Given the description of an element on the screen output the (x, y) to click on. 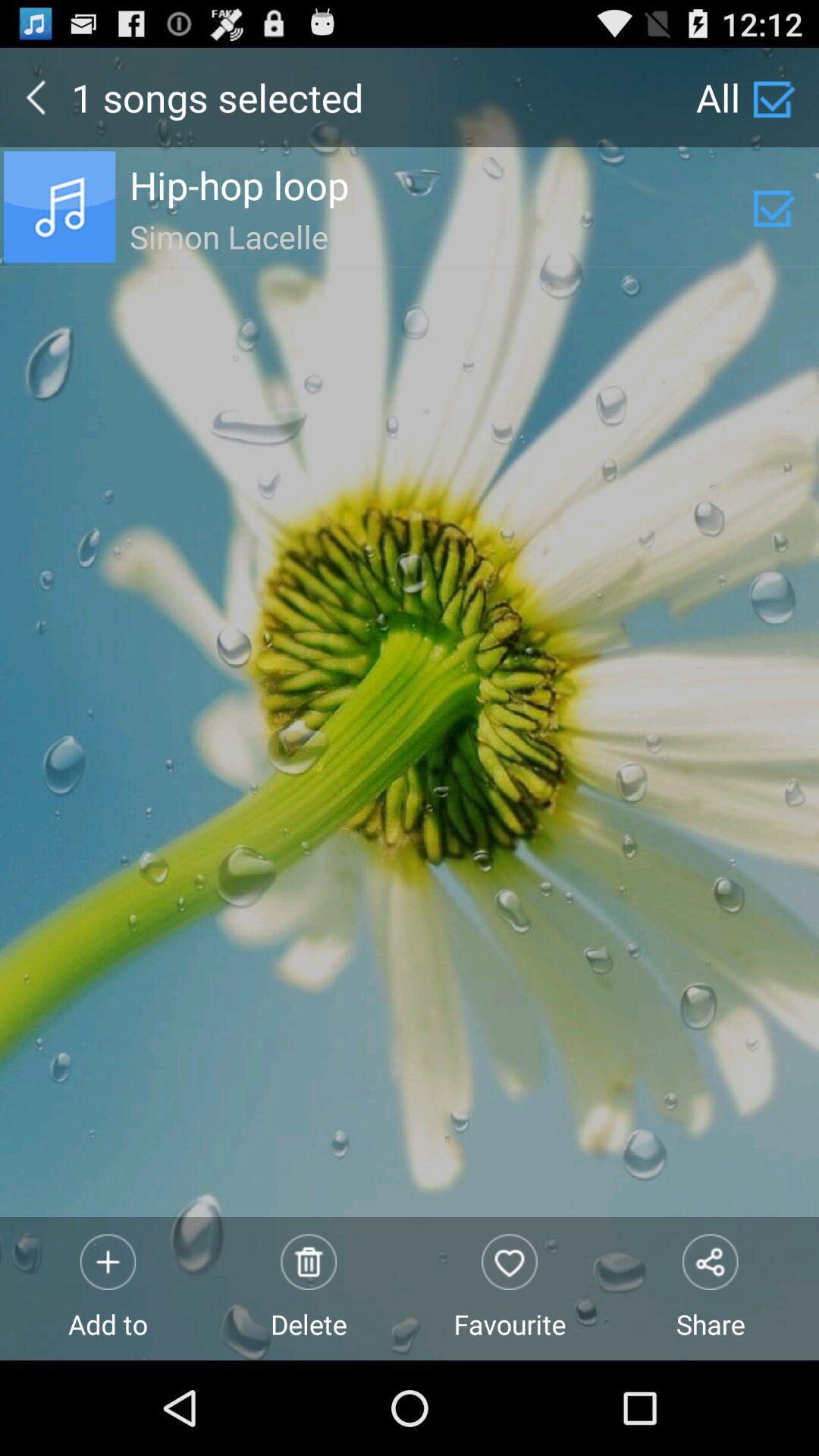
tap item next to the add to app (308, 1288)
